Given the description of an element on the screen output the (x, y) to click on. 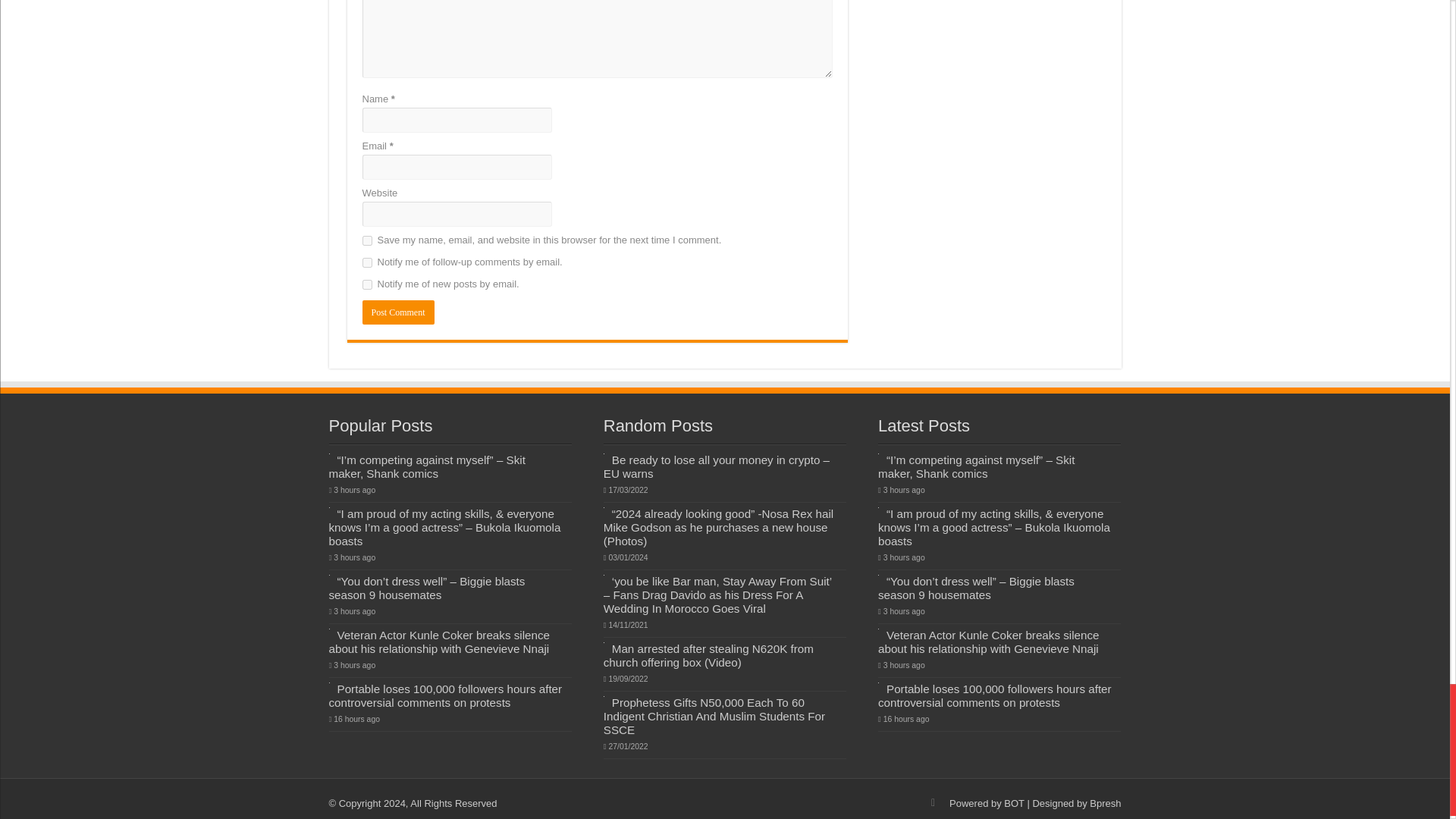
subscribe (367, 284)
subscribe (367, 262)
Post Comment (397, 312)
yes (367, 240)
